Given the description of an element on the screen output the (x, y) to click on. 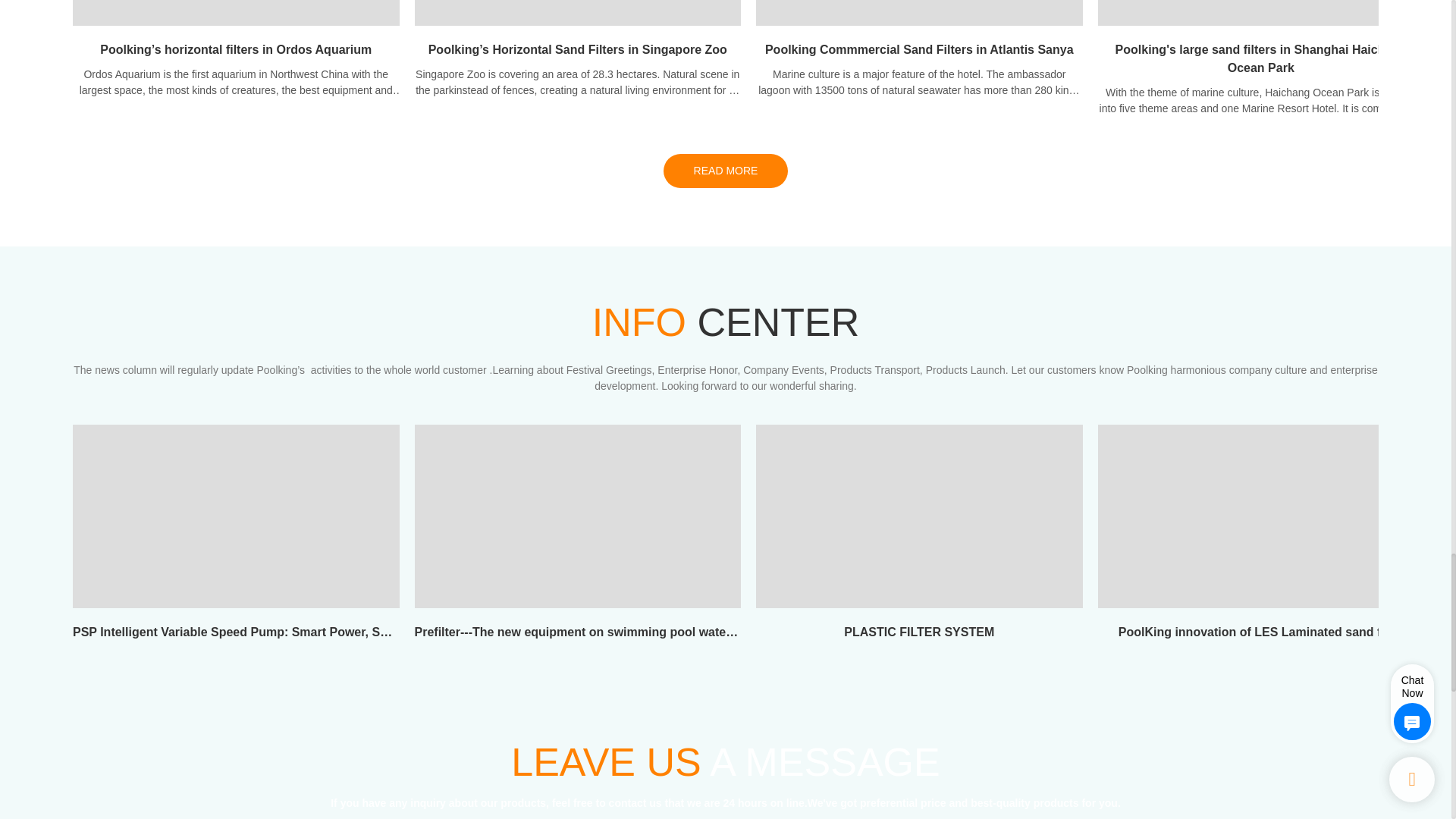
Poolking Commmercial Sand Filters in Atlantis Sanya (919, 53)
